Given the description of an element on the screen output the (x, y) to click on. 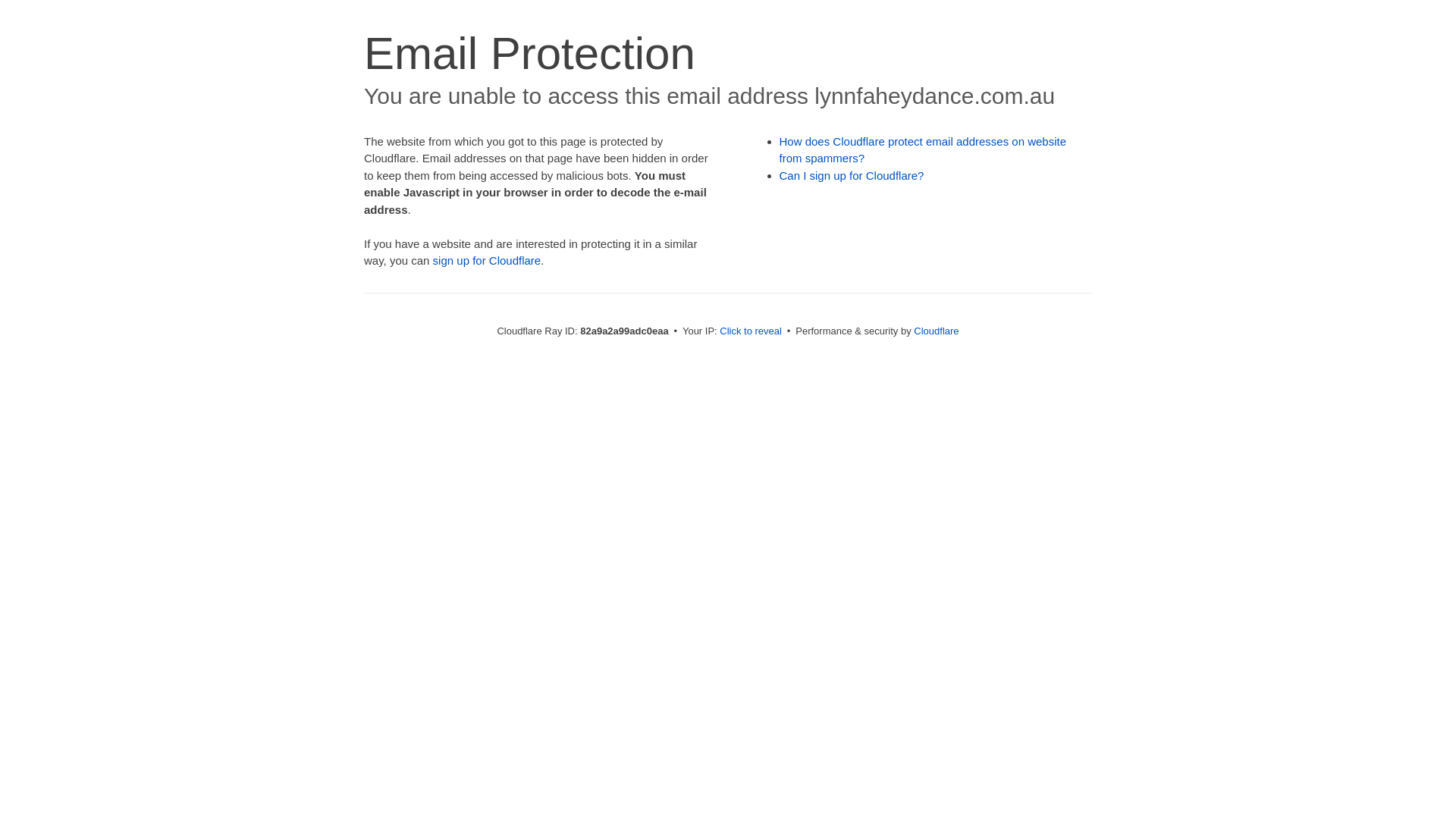
sign up for Cloudflare Element type: text (487, 260)
Can I sign up for Cloudflare? Element type: text (851, 175)
Click to reveal Element type: text (750, 330)
Cloudflare Element type: text (935, 330)
